Given the description of an element on the screen output the (x, y) to click on. 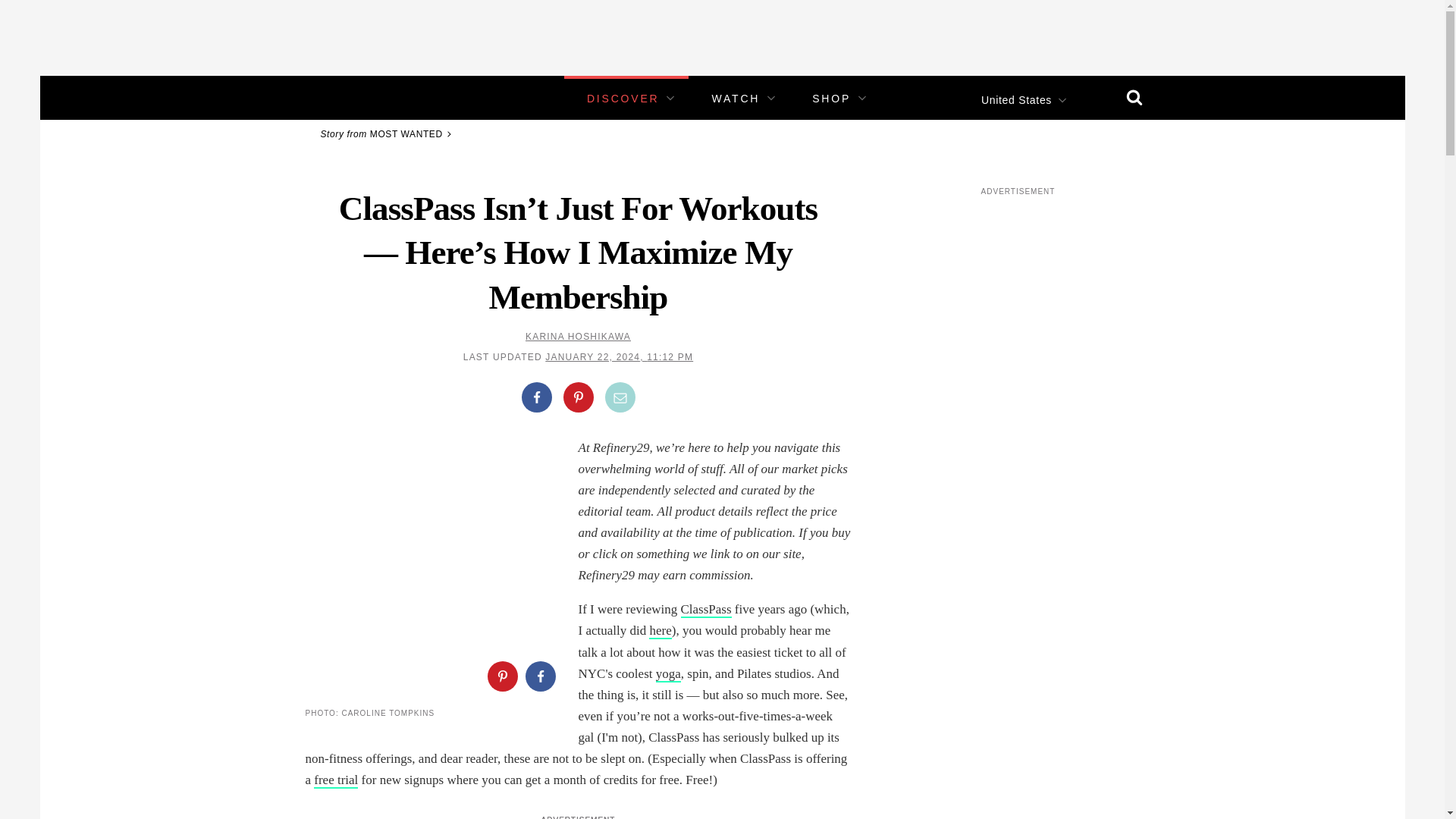
free trial (336, 780)
SHOP (831, 98)
JANUARY 22, 2024, 11:12 PM (618, 357)
yoga (668, 674)
WATCH (735, 98)
Share by Email (619, 397)
ClassPass (706, 609)
Refinery29 (352, 97)
KARINA HOSHIKAWA (577, 336)
Share on Pinterest (501, 675)
